Given the description of an element on the screen output the (x, y) to click on. 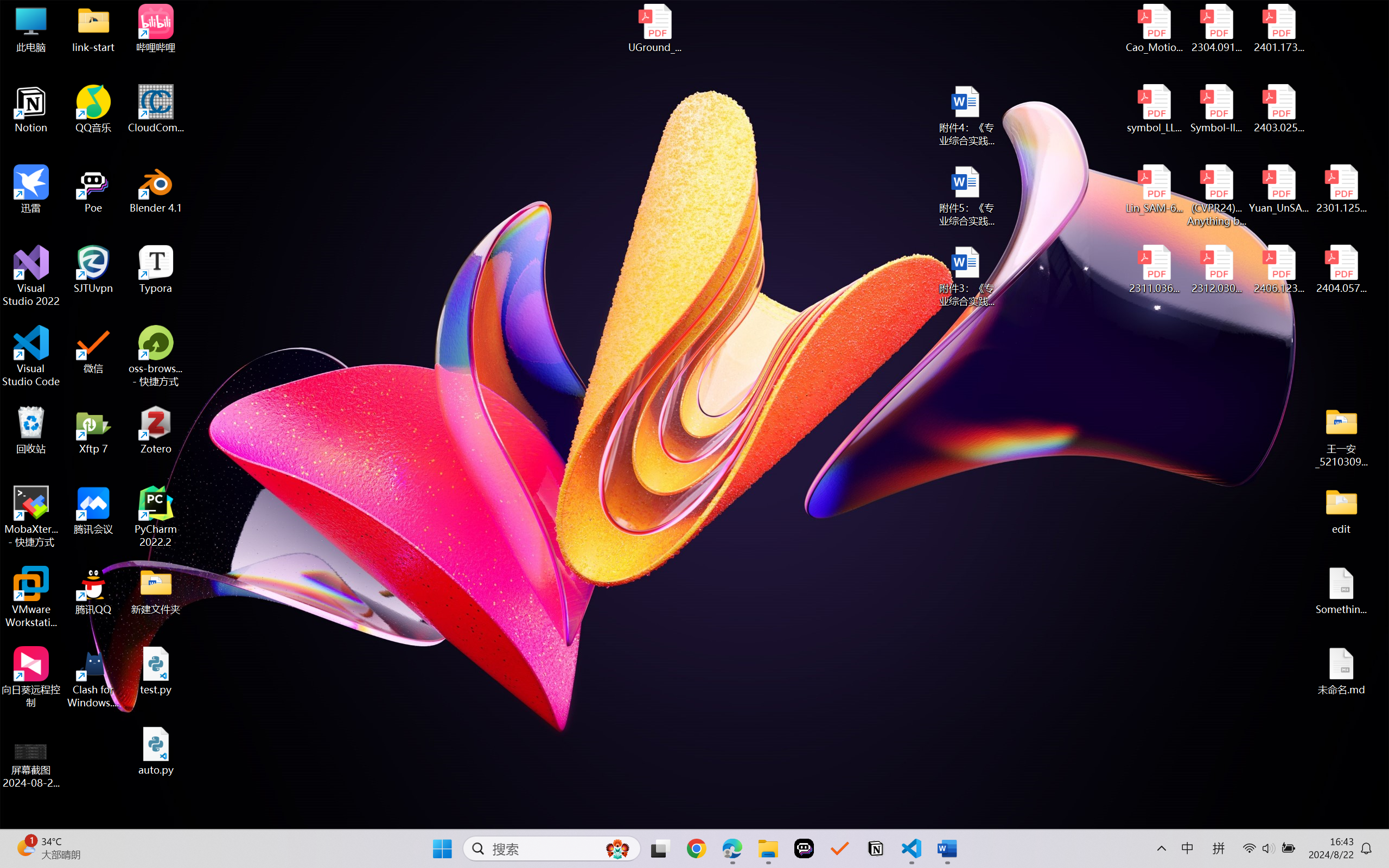
2304.09121v3.pdf (1216, 28)
PyCharm 2022.2 (156, 516)
Xftp 7 (93, 430)
Symbol-llm-v2.pdf (1216, 109)
CloudCompare (156, 109)
UGround_paper.pdf (654, 28)
